Given the description of an element on the screen output the (x, y) to click on. 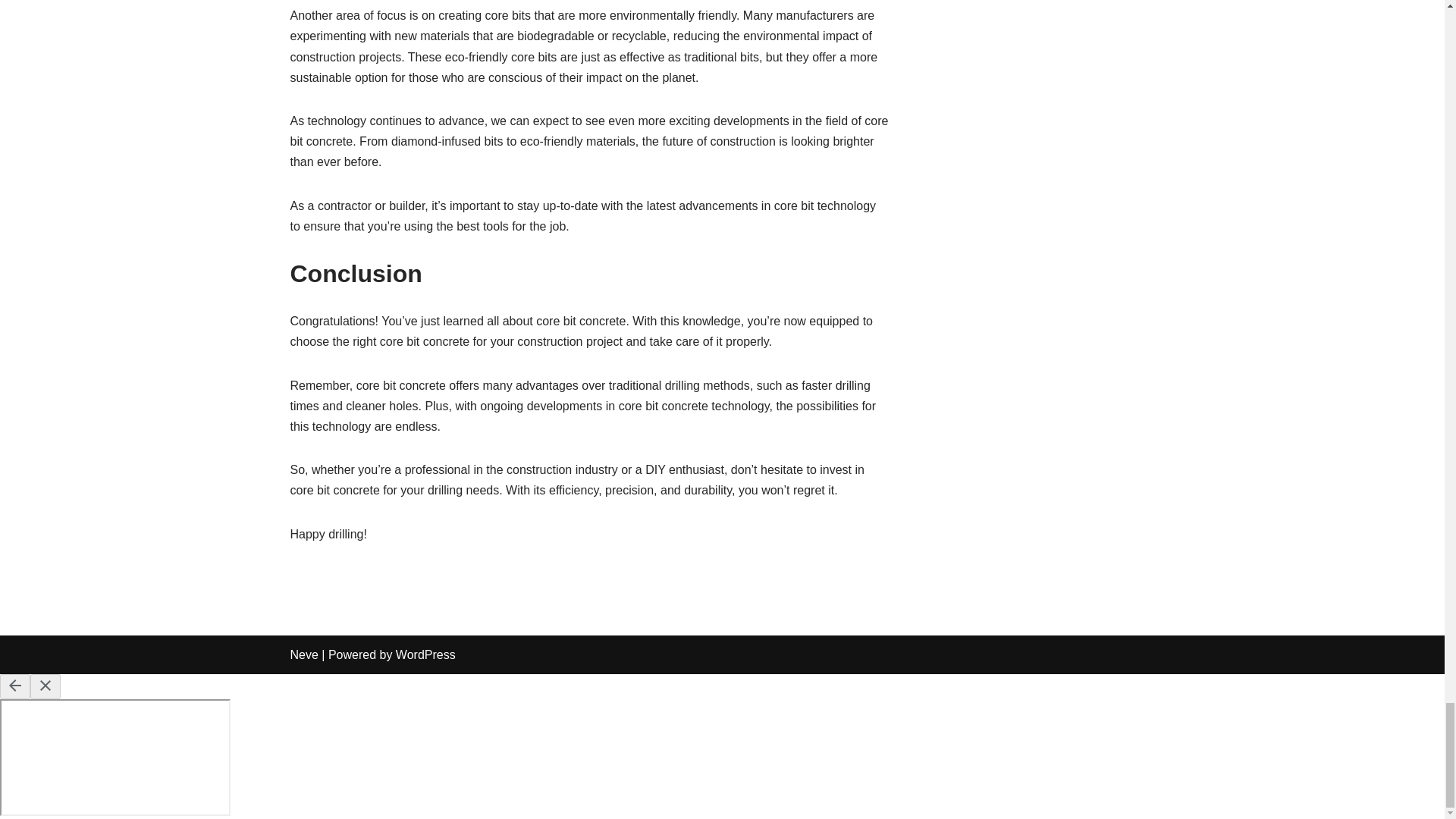
WordPress (425, 654)
Neve (303, 654)
